Given the description of an element on the screen output the (x, y) to click on. 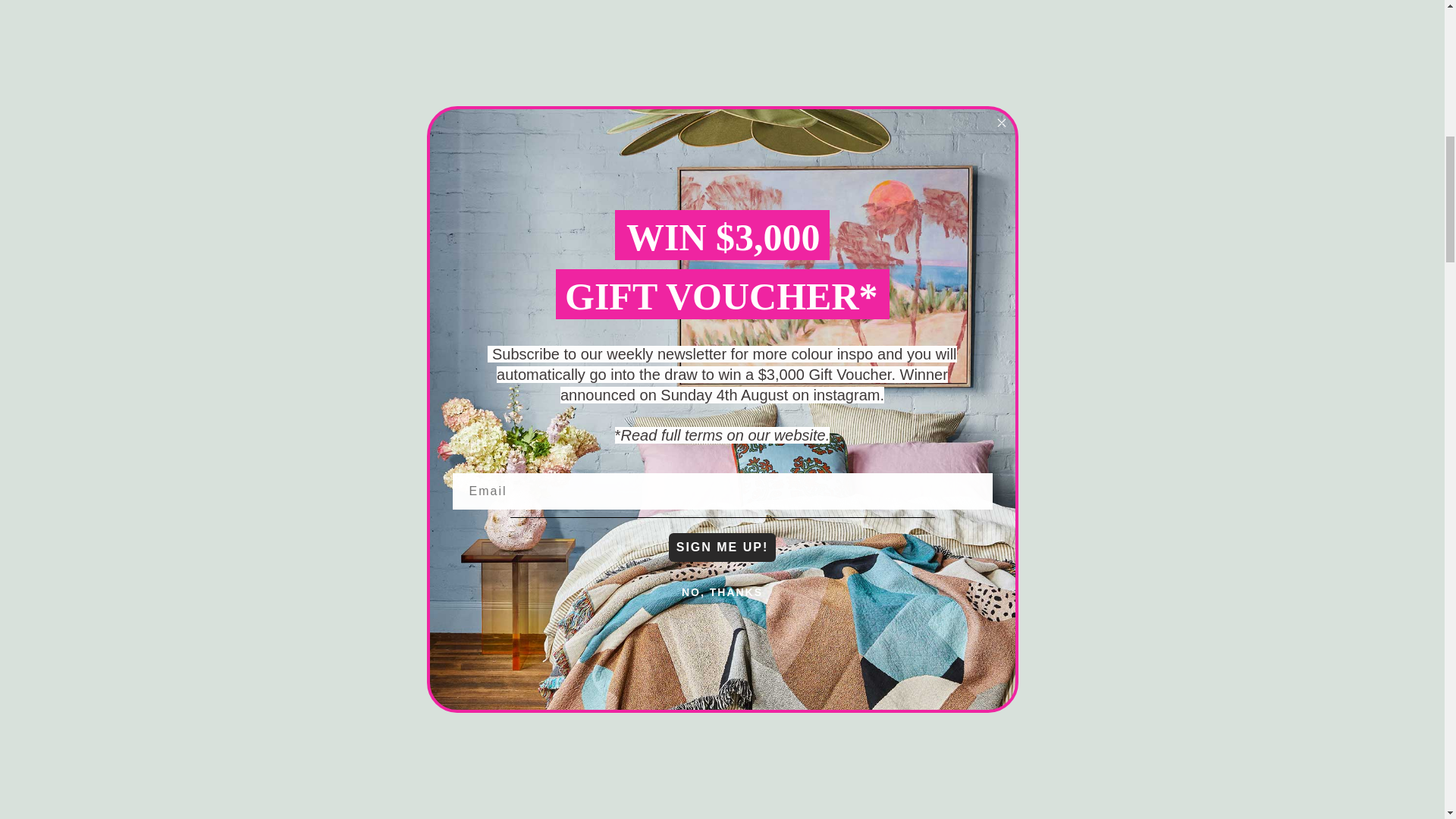
GBP (1322, 161)
FJD (1322, 106)
ETB (1322, 52)
Email this to a friend (852, 121)
EGP (1322, 24)
Share this on Twitter (743, 121)
FKP (1322, 134)
EUR (1322, 79)
DZD (1322, 5)
Share this on Pinterest (816, 121)
Prints (773, 70)
Share this on Facebook (779, 121)
